Given the description of an element on the screen output the (x, y) to click on. 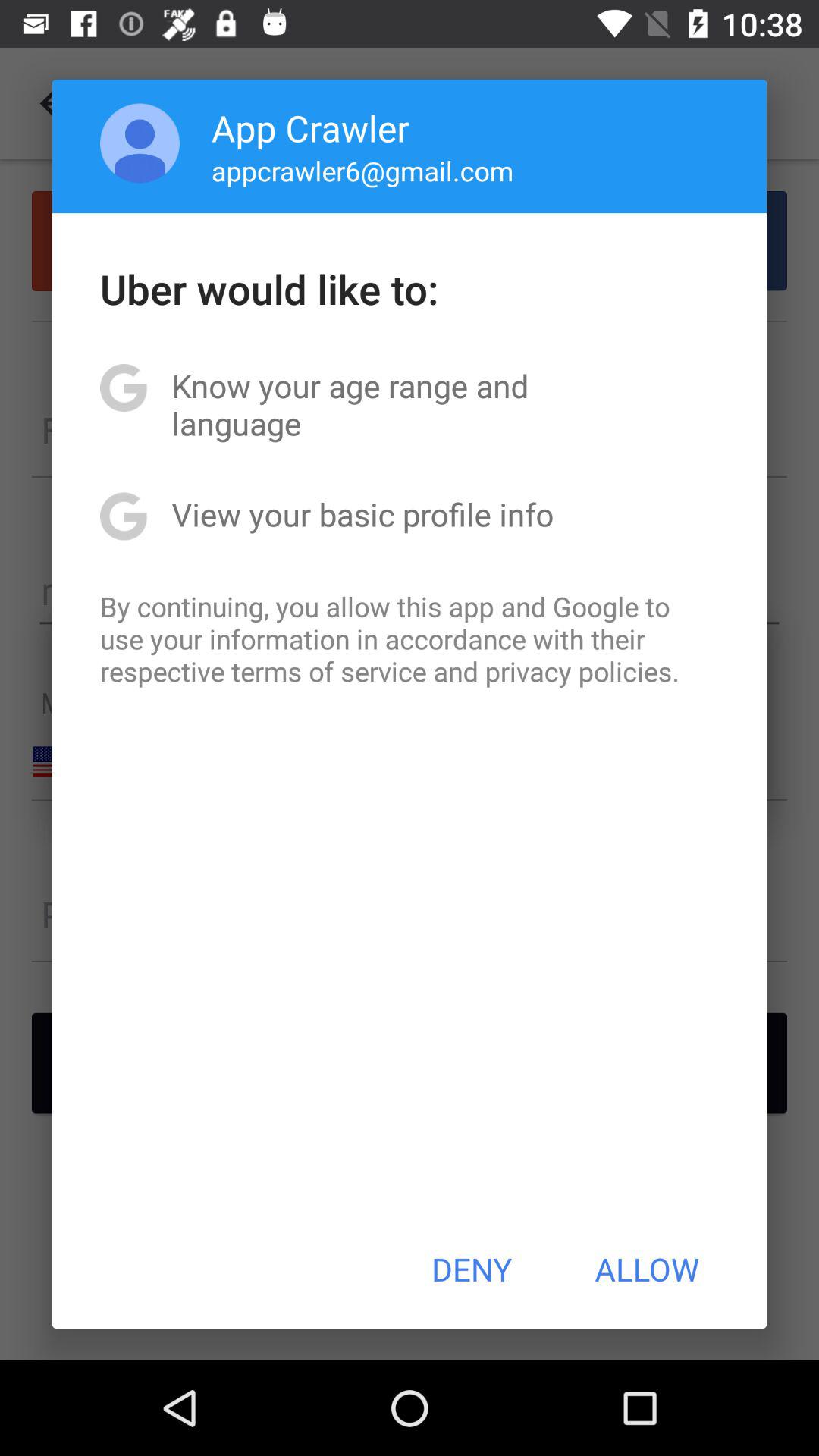
scroll until the view your basic item (362, 513)
